Given the description of an element on the screen output the (x, y) to click on. 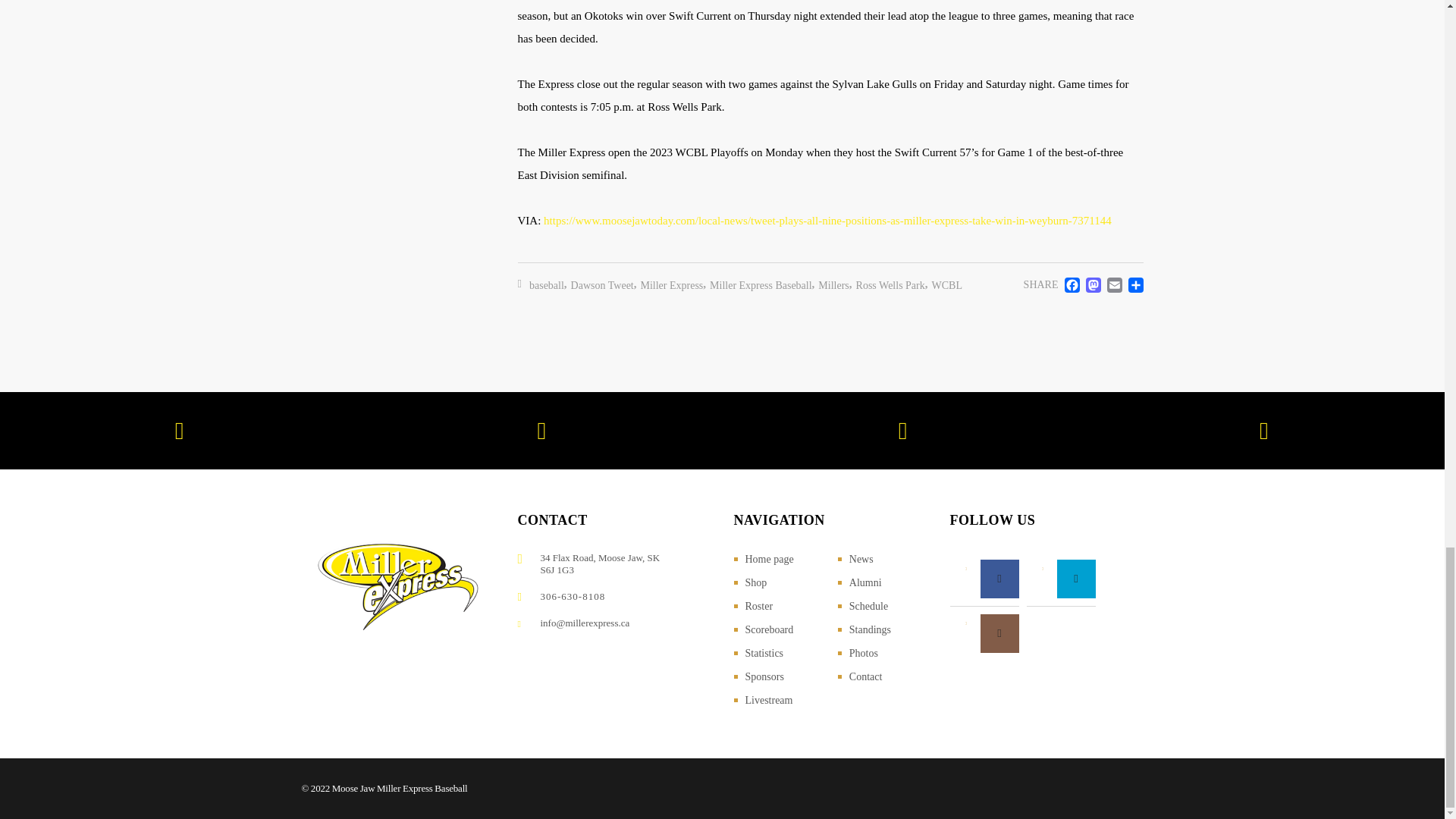
Facebook (1069, 284)
Miller Express (671, 285)
Email (1111, 284)
Dawson Tweet (601, 285)
Miller Express Baseball (761, 285)
baseball (546, 285)
Mastodon (1090, 284)
